Given the description of an element on the screen output the (x, y) to click on. 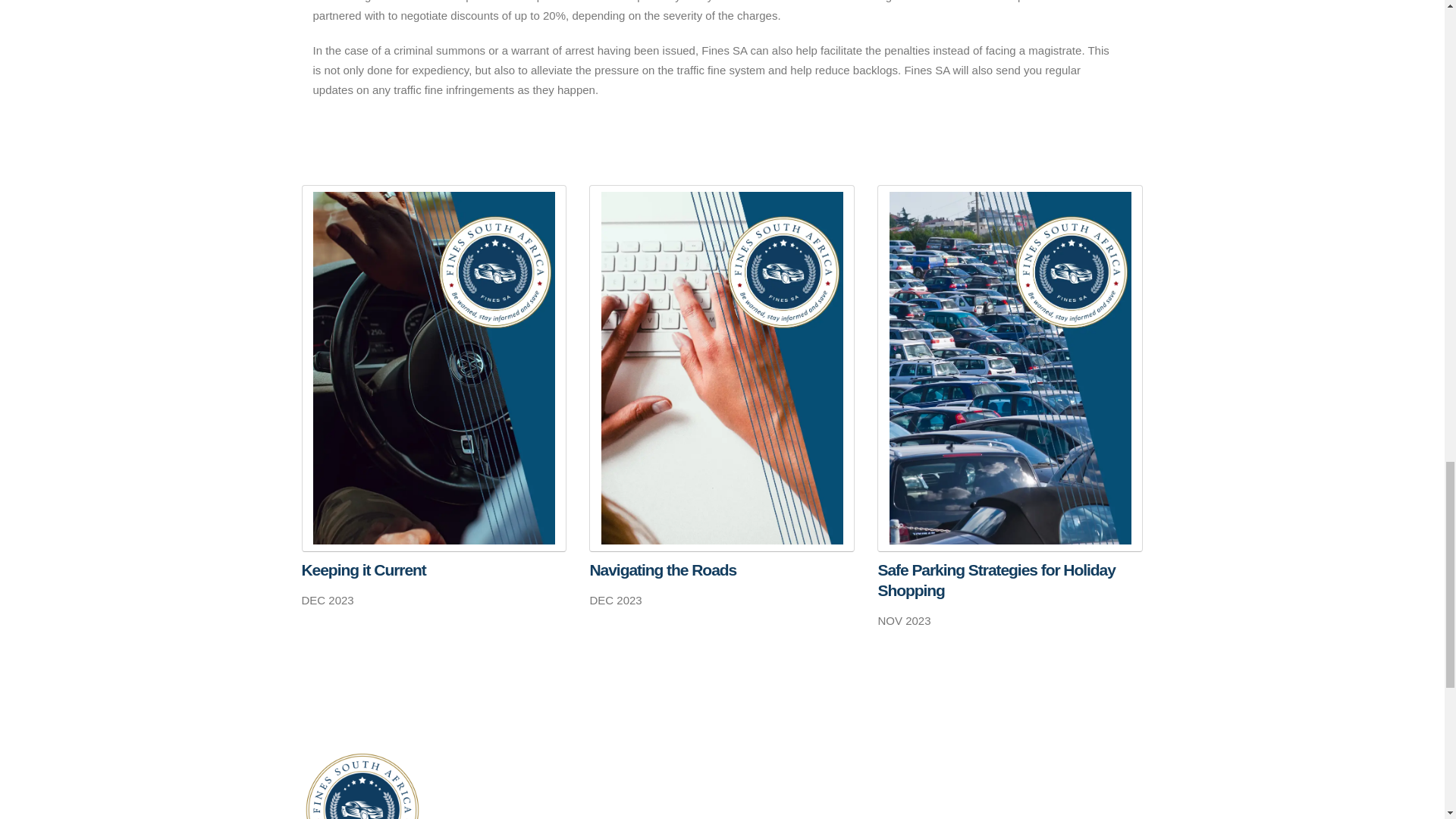
Twitter (1008, 797)
Instagram (1088, 797)
Safe Parking Strategies for Holiday Shopping (1009, 579)
Linkedin (1047, 797)
Keeping it Current (434, 569)
Navigating the Roads (721, 569)
Facebook (967, 797)
